Given the description of an element on the screen output the (x, y) to click on. 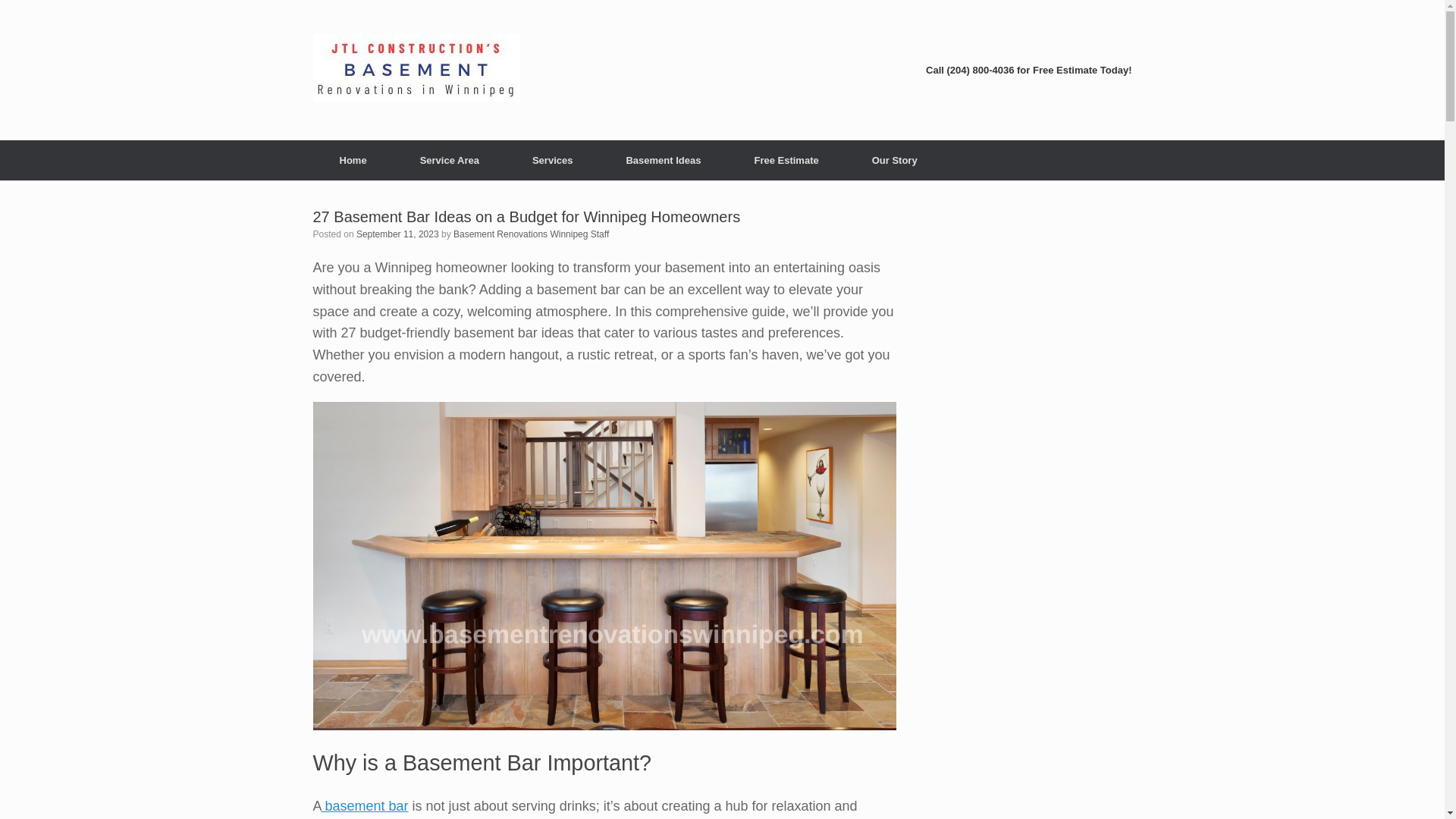
Services (552, 159)
September 11, 2023 (397, 234)
4:01 am (397, 234)
Basement Renovations Winnipeg Staff (530, 234)
 basement bar (365, 806)
Basement Ideas (662, 159)
Our Story (894, 159)
Service Area (449, 159)
Free Estimate (785, 159)
Home (353, 159)
View all posts by Basement Renovations Winnipeg Staff (530, 234)
